Given the description of an element on the screen output the (x, y) to click on. 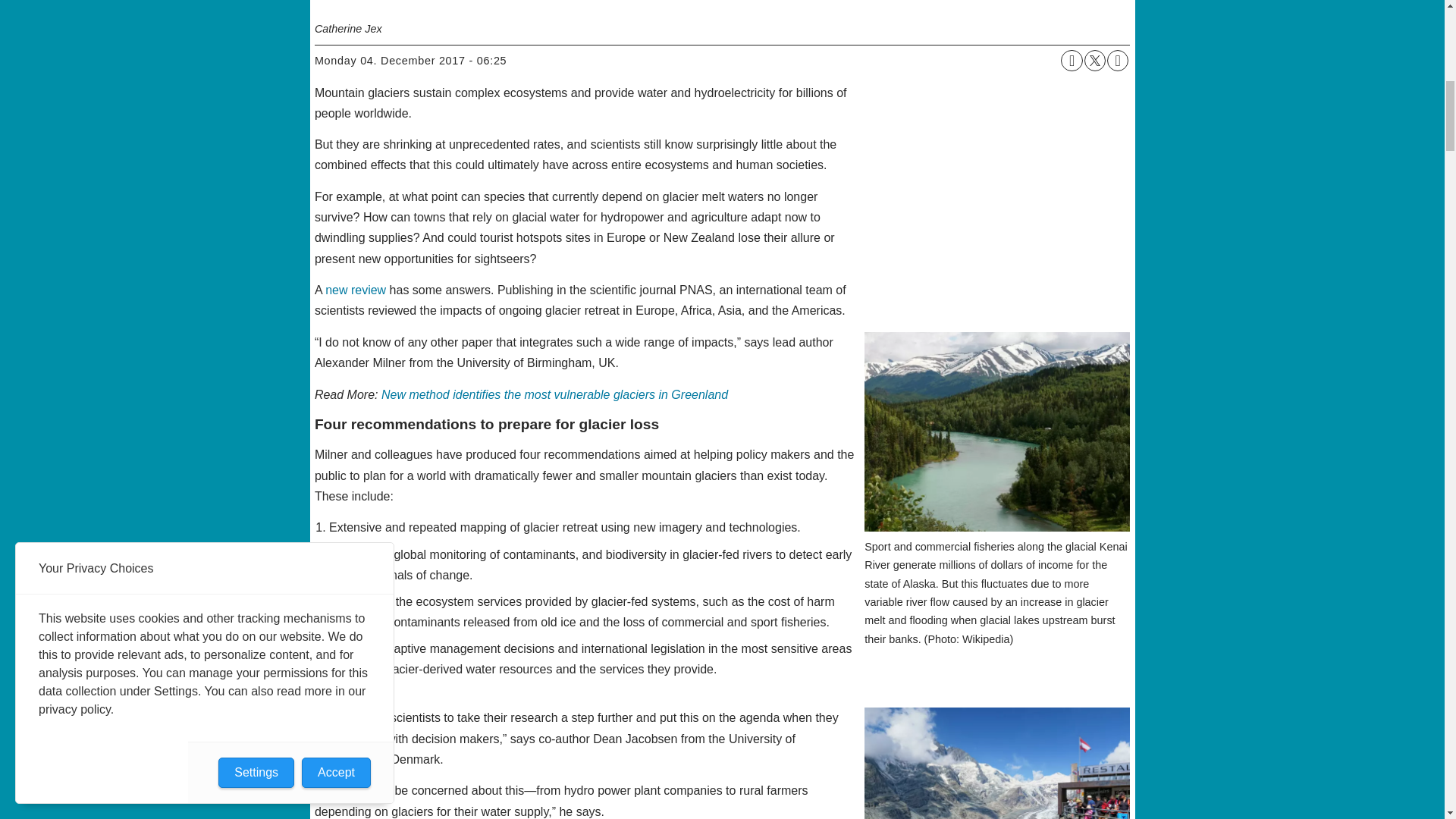
new review (354, 289)
 monday 04. December 2017 - 06:25 (410, 60)
